Given the description of an element on the screen output the (x, y) to click on. 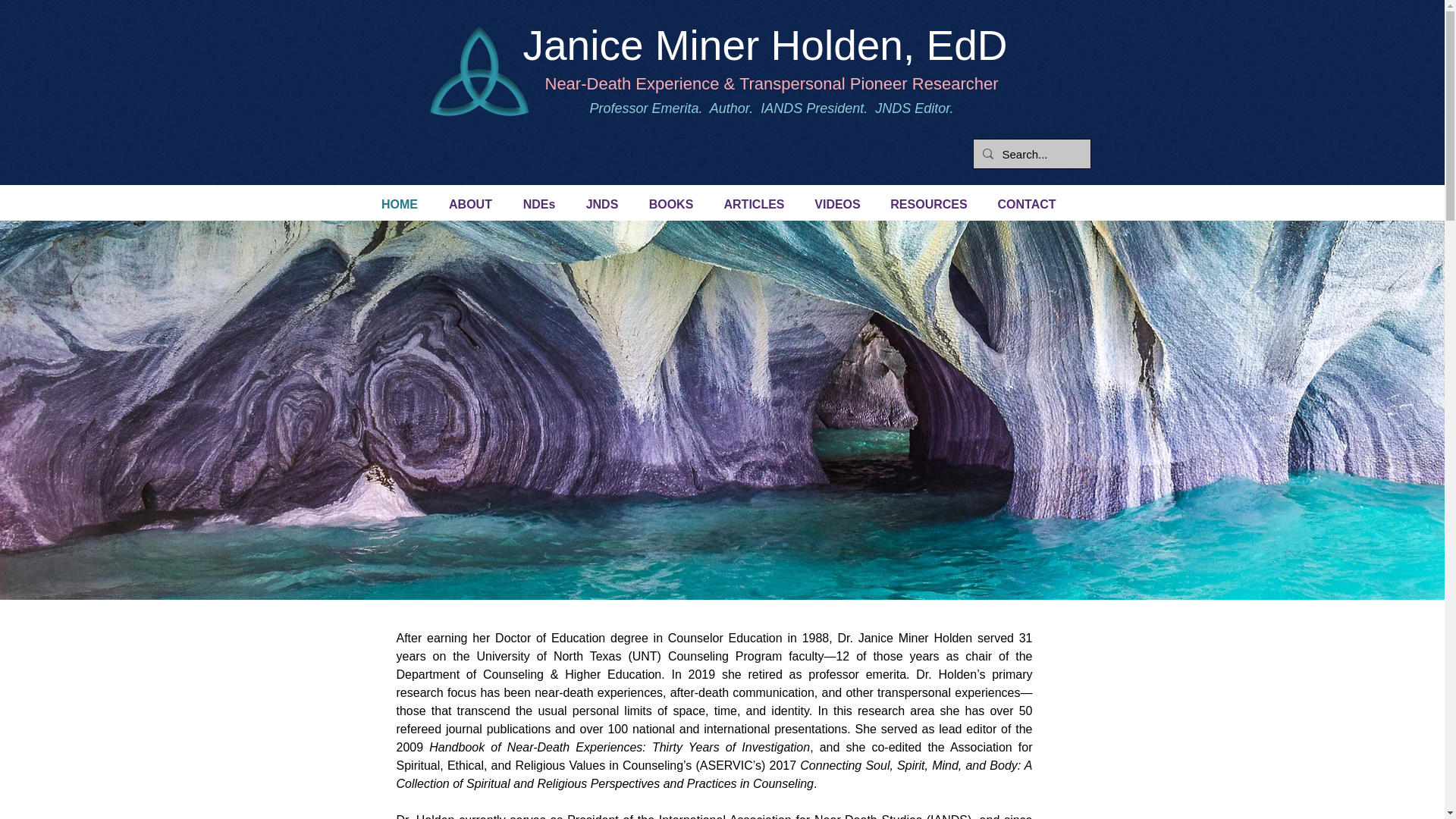
CONTACT (1026, 204)
VIDEOS (837, 204)
ARTICLES (753, 204)
ABOUT (470, 204)
RESOURCES (928, 204)
JNDS (601, 204)
BOOKS (671, 204)
NDEs (539, 204)
HOME (398, 204)
